Given the description of an element on the screen output the (x, y) to click on. 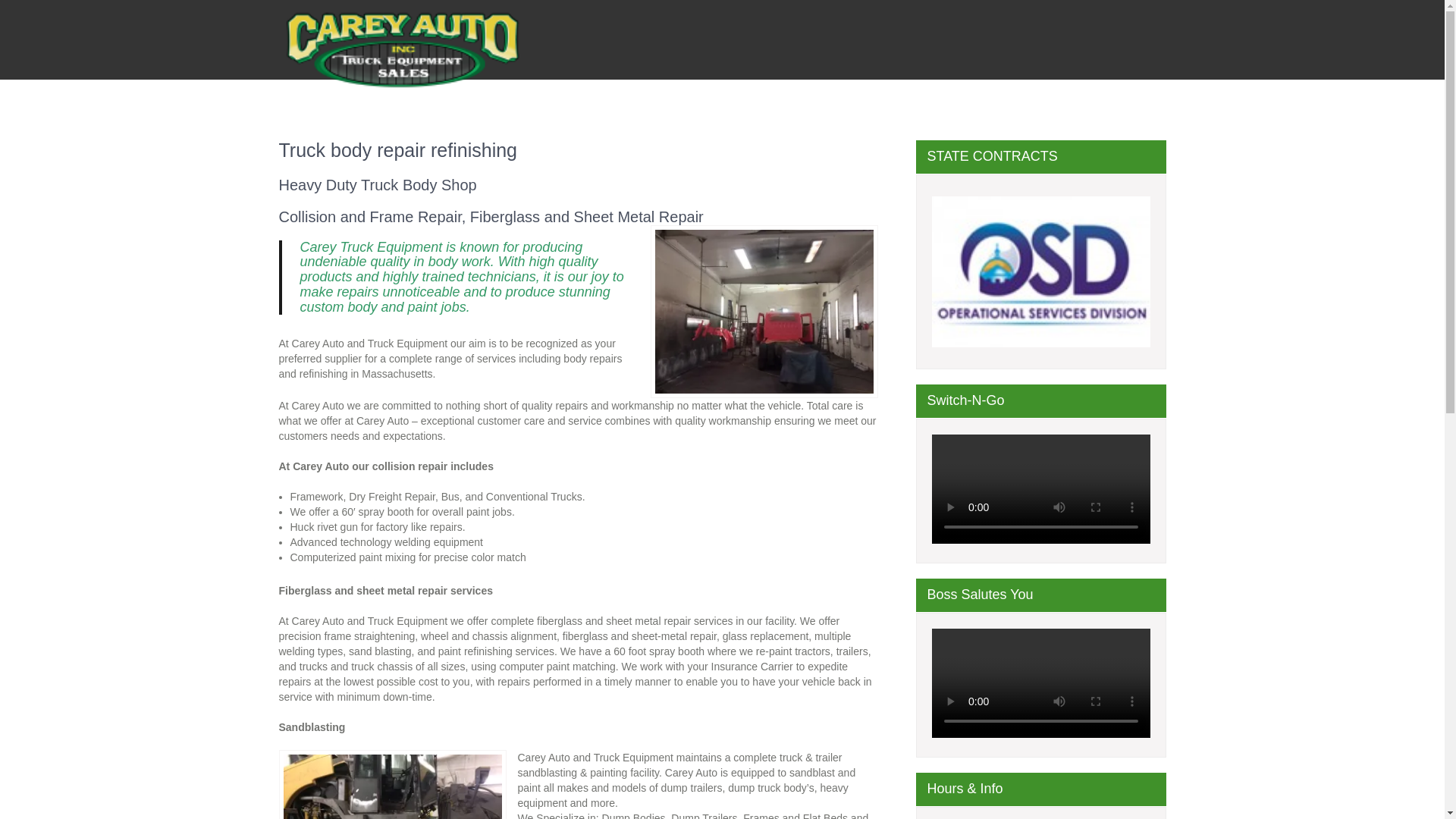
OSD-1-e1472836701959 (1040, 272)
New England Boston South shore truck parts (402, 102)
